Given the description of an element on the screen output the (x, y) to click on. 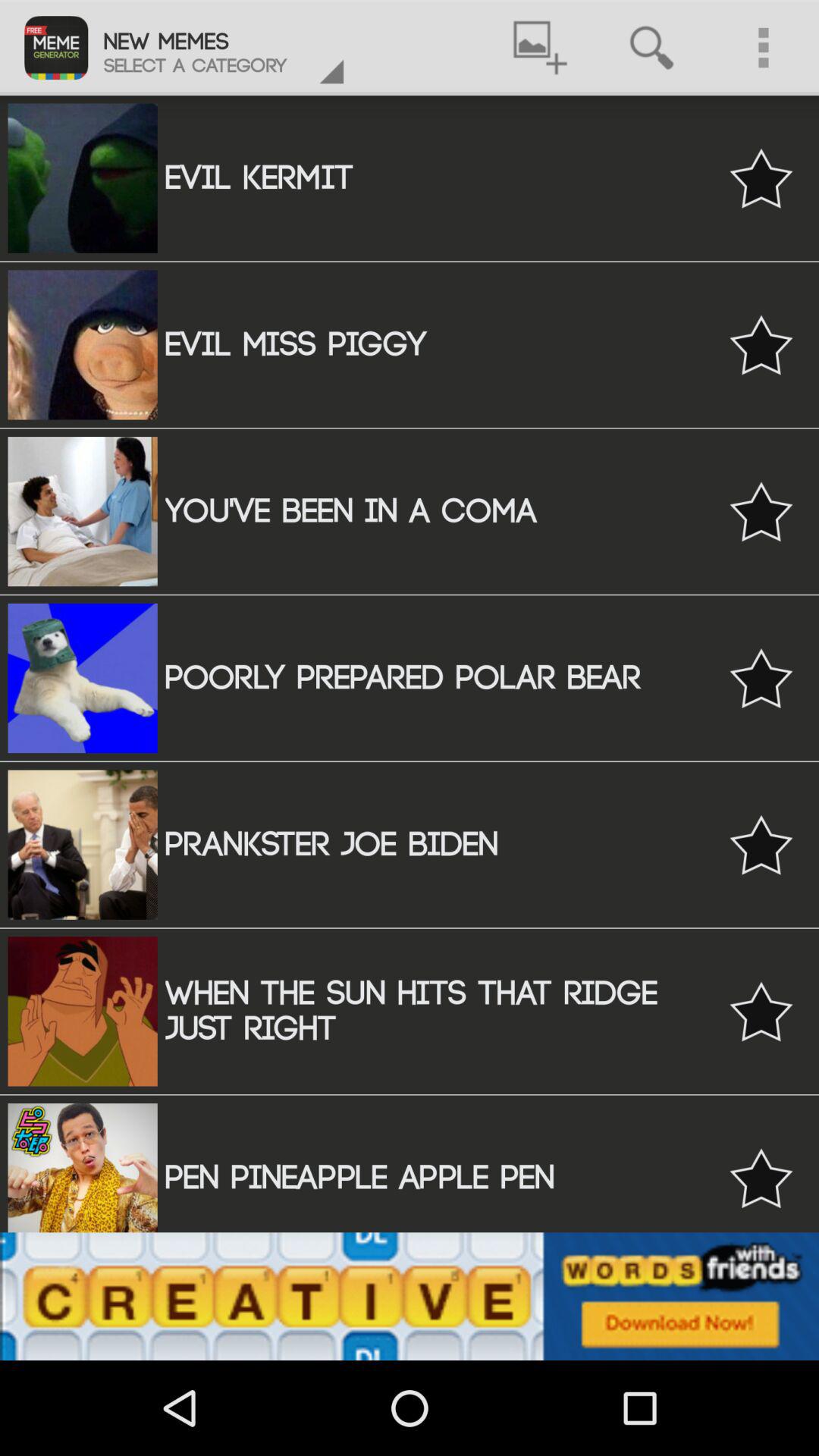
add meme to favorites (761, 178)
